Given the description of an element on the screen output the (x, y) to click on. 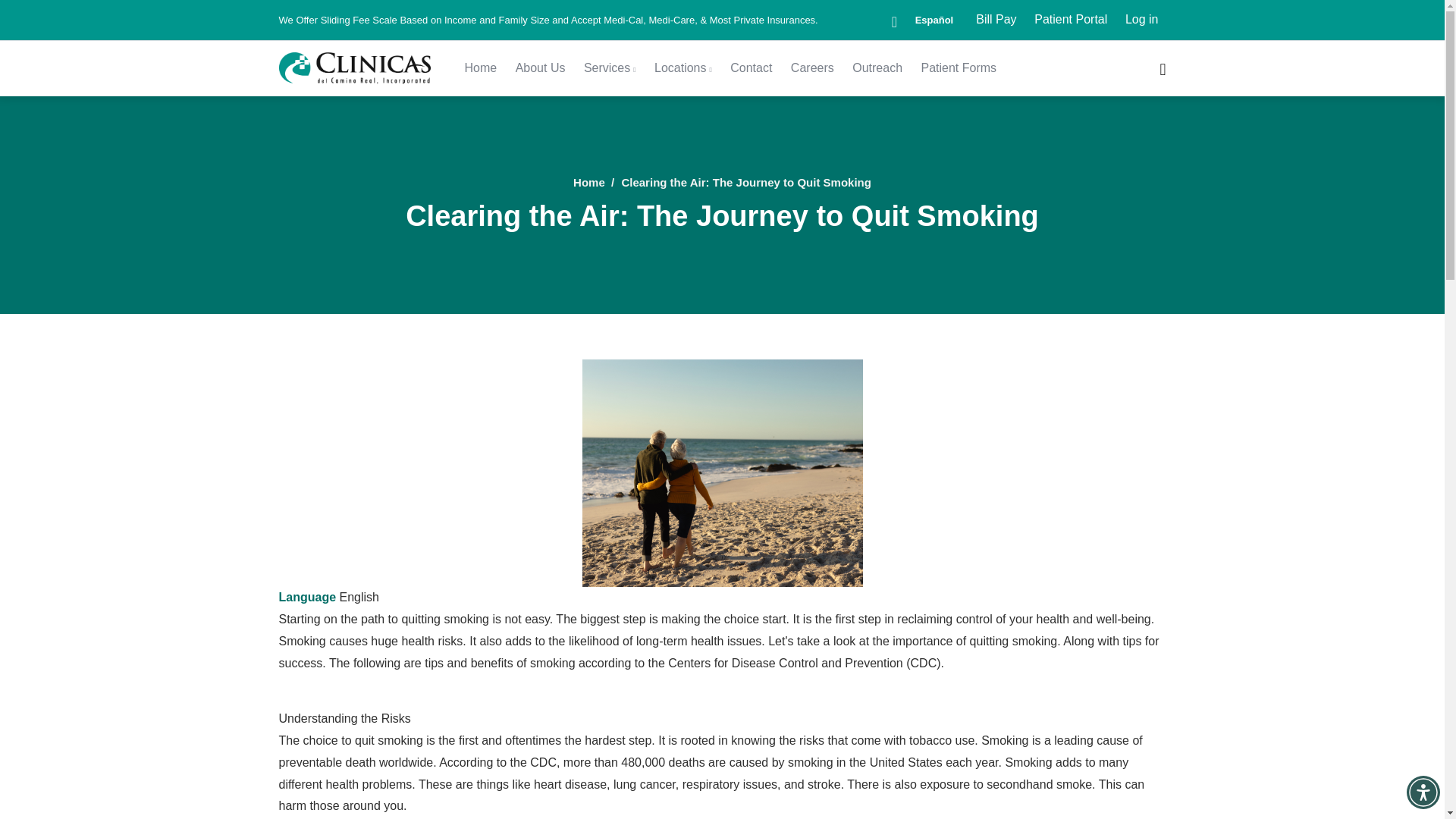
Patient Portal (1070, 20)
Home (480, 67)
Locations (682, 67)
Log in (1142, 20)
About Us (540, 67)
Accessibility Menu (1422, 792)
Home (354, 68)
Bill Pay (995, 20)
Services (609, 67)
